Given the description of an element on the screen output the (x, y) to click on. 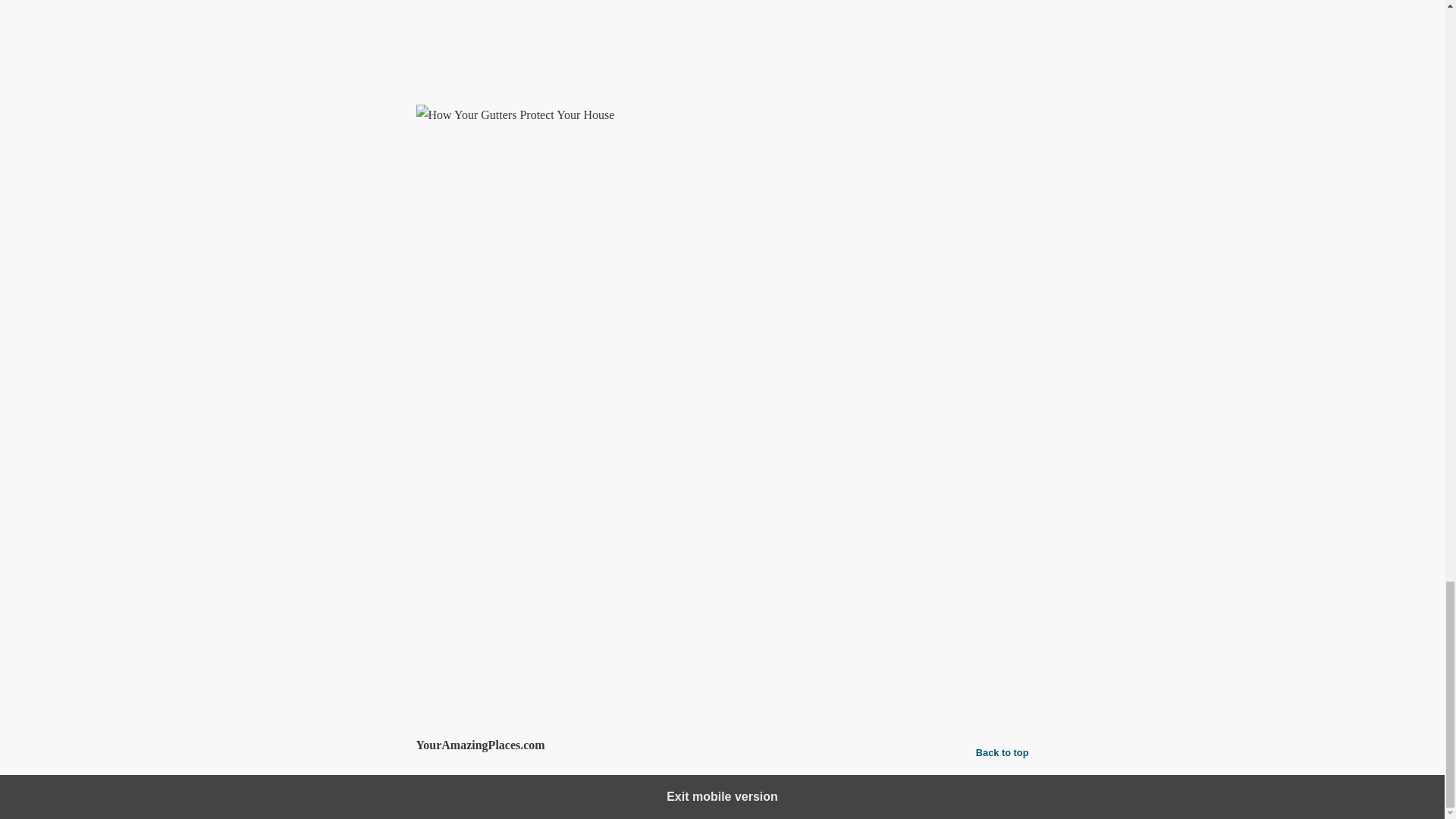
roof (605, 637)
gutters (575, 637)
gutter protection (515, 637)
aluminum gutter installation (784, 60)
Home Improv (505, 605)
Back to top (1002, 752)
Leave a Comment (721, 686)
gutter (457, 637)
